Given the description of an element on the screen output the (x, y) to click on. 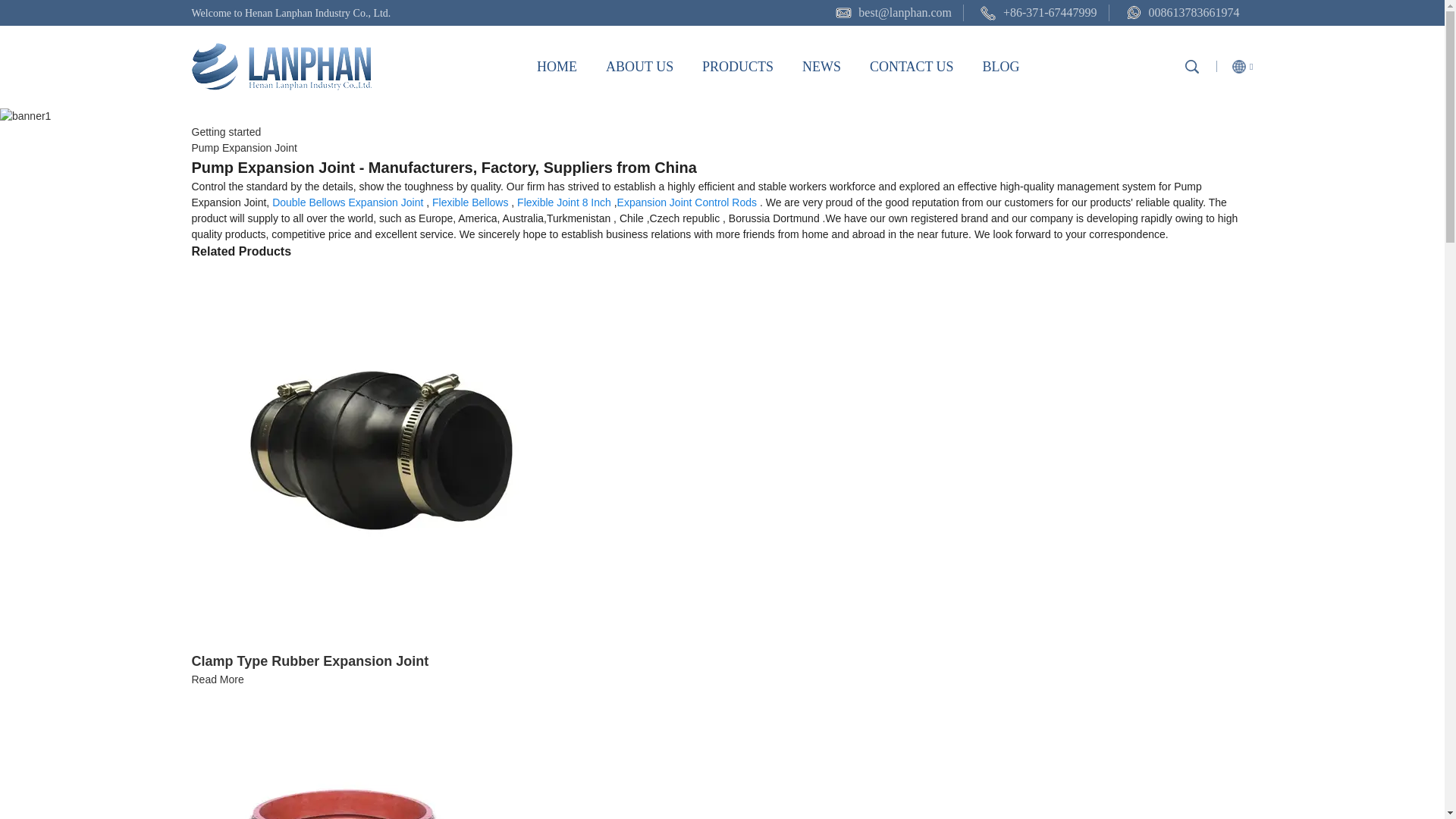
Expansion Joint Control Rods (687, 202)
Double Bellows Expansion Joint (347, 202)
Read More (216, 679)
English (1233, 66)
Pump Expansion Joint (243, 147)
ABOUT US (638, 66)
Flexible Joint 8 Inch (563, 202)
Clamp Type Rubber Expansion Joint (216, 679)
NEWS (821, 66)
Clamp Type Rubber Expansion Joint (309, 661)
